Given the description of an element on the screen output the (x, y) to click on. 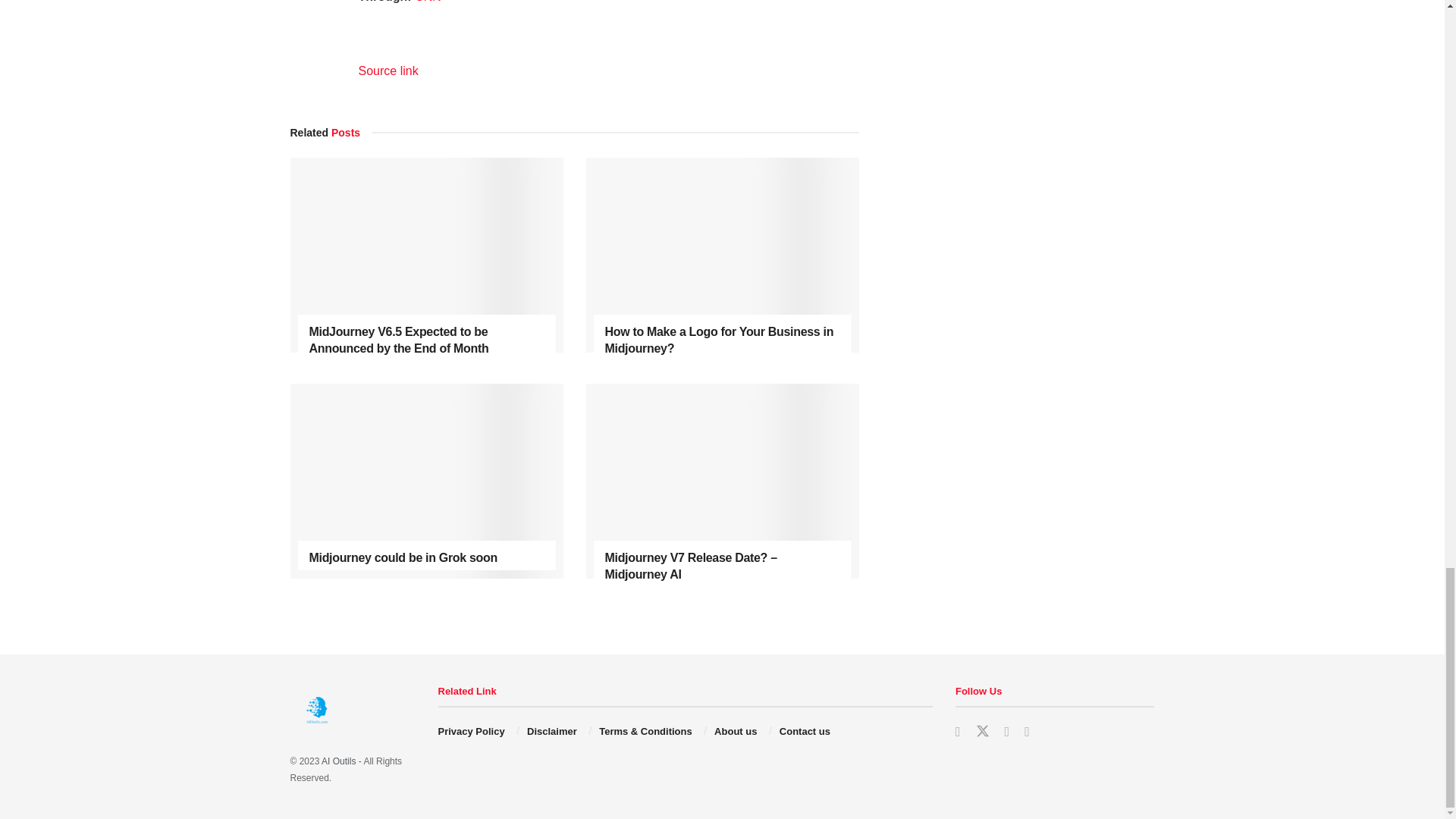
 Artificial Intelligence tools to enhance your productivity. (338, 760)
